Given the description of an element on the screen output the (x, y) to click on. 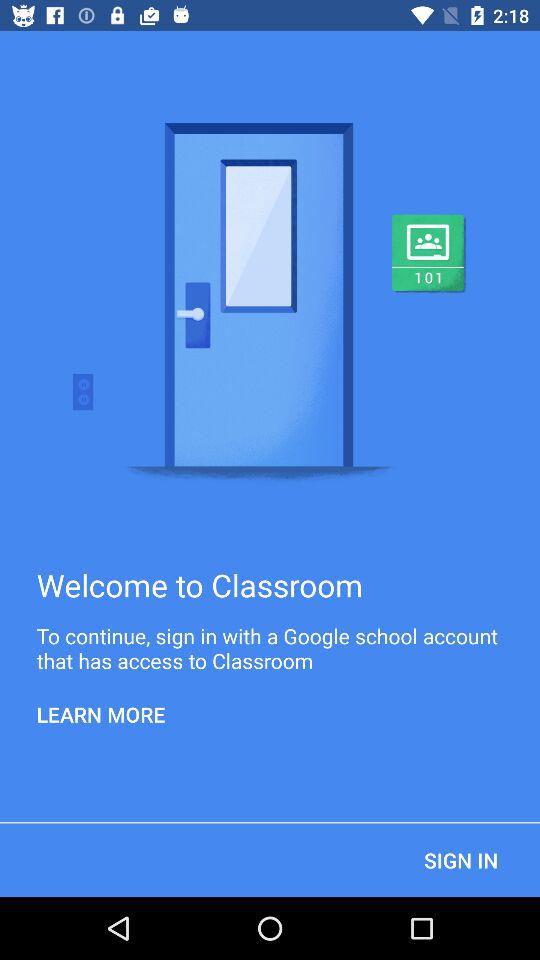
choose learn more at the bottom left corner (101, 713)
